Given the description of an element on the screen output the (x, y) to click on. 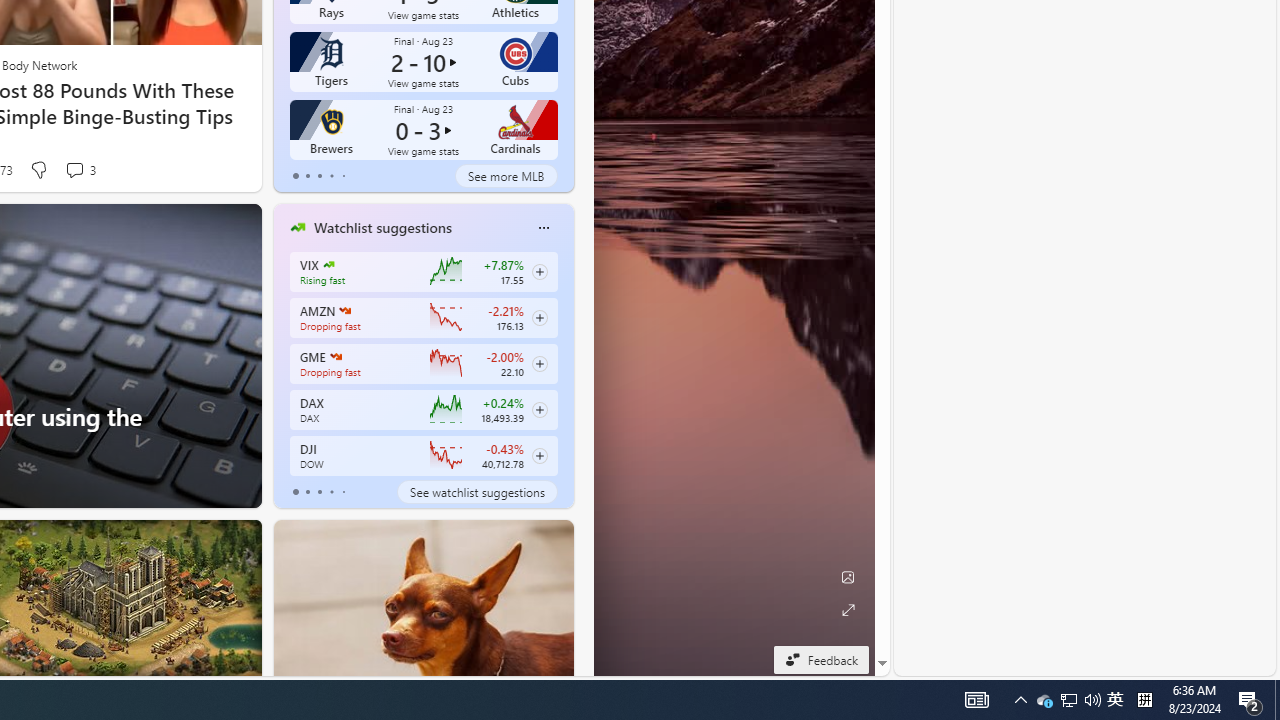
See more MLB (506, 175)
Class: follow-button  m (539, 455)
CBOE Market Volatility Index (328, 264)
AMAZON.COM, INC. (343, 310)
See watchlist suggestions (476, 491)
tab-1 (306, 491)
Watchlist suggestions (382, 227)
